Given the description of an element on the screen output the (x, y) to click on. 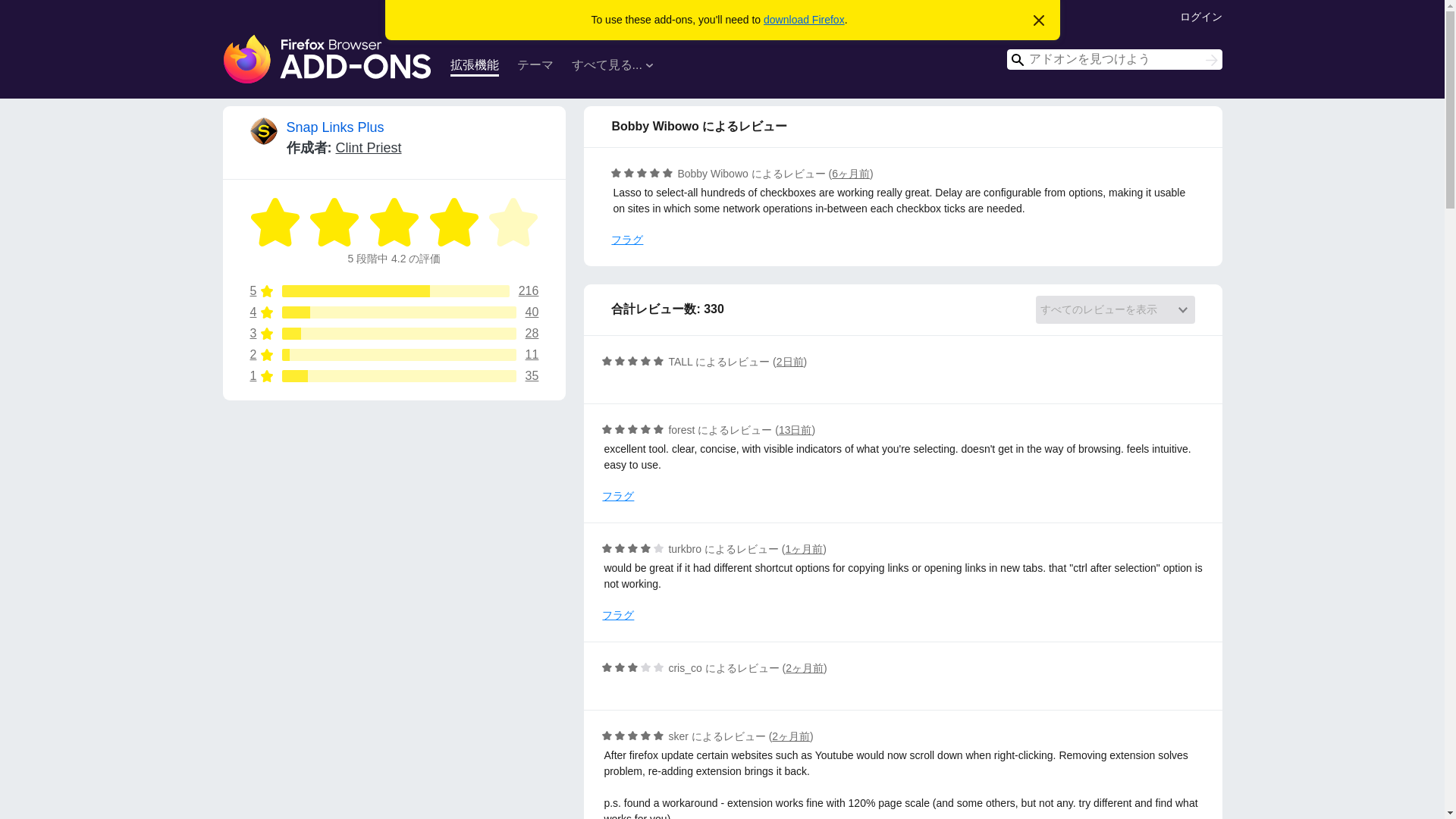
Clint Priest (367, 147)
download Firefox (394, 354)
Snap Links Plus (394, 376)
